Given the description of an element on the screen output the (x, y) to click on. 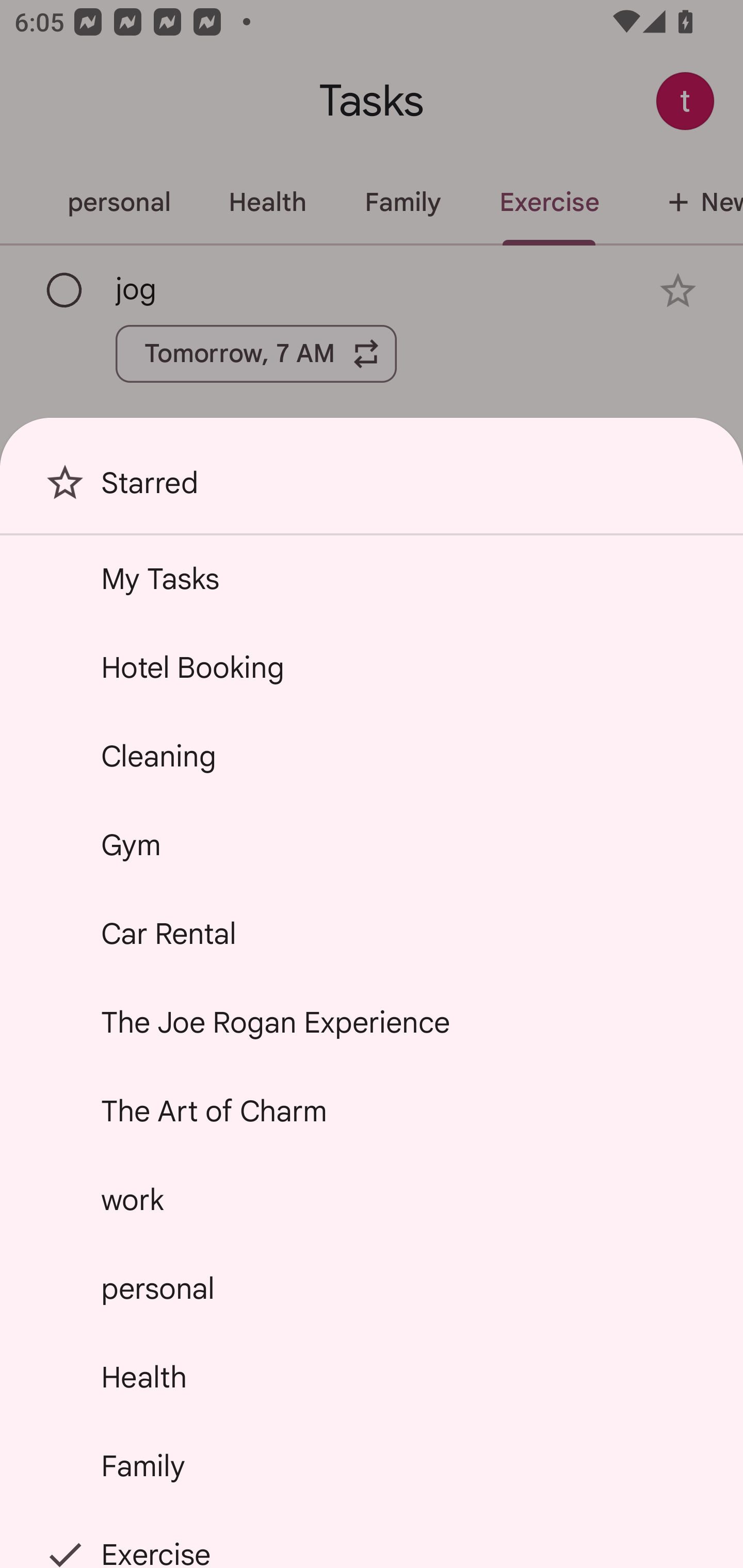
Starred (371, 489)
My Tasks (371, 578)
Hotel Booking (371, 667)
Cleaning (371, 756)
Gym (371, 844)
Car Rental (371, 933)
The Joe Rogan Experience (371, 1022)
The Art of Charm (371, 1110)
work (371, 1200)
personal (371, 1287)
Health (371, 1377)
Family (371, 1465)
Exercise (371, 1539)
